Given the description of an element on the screen output the (x, y) to click on. 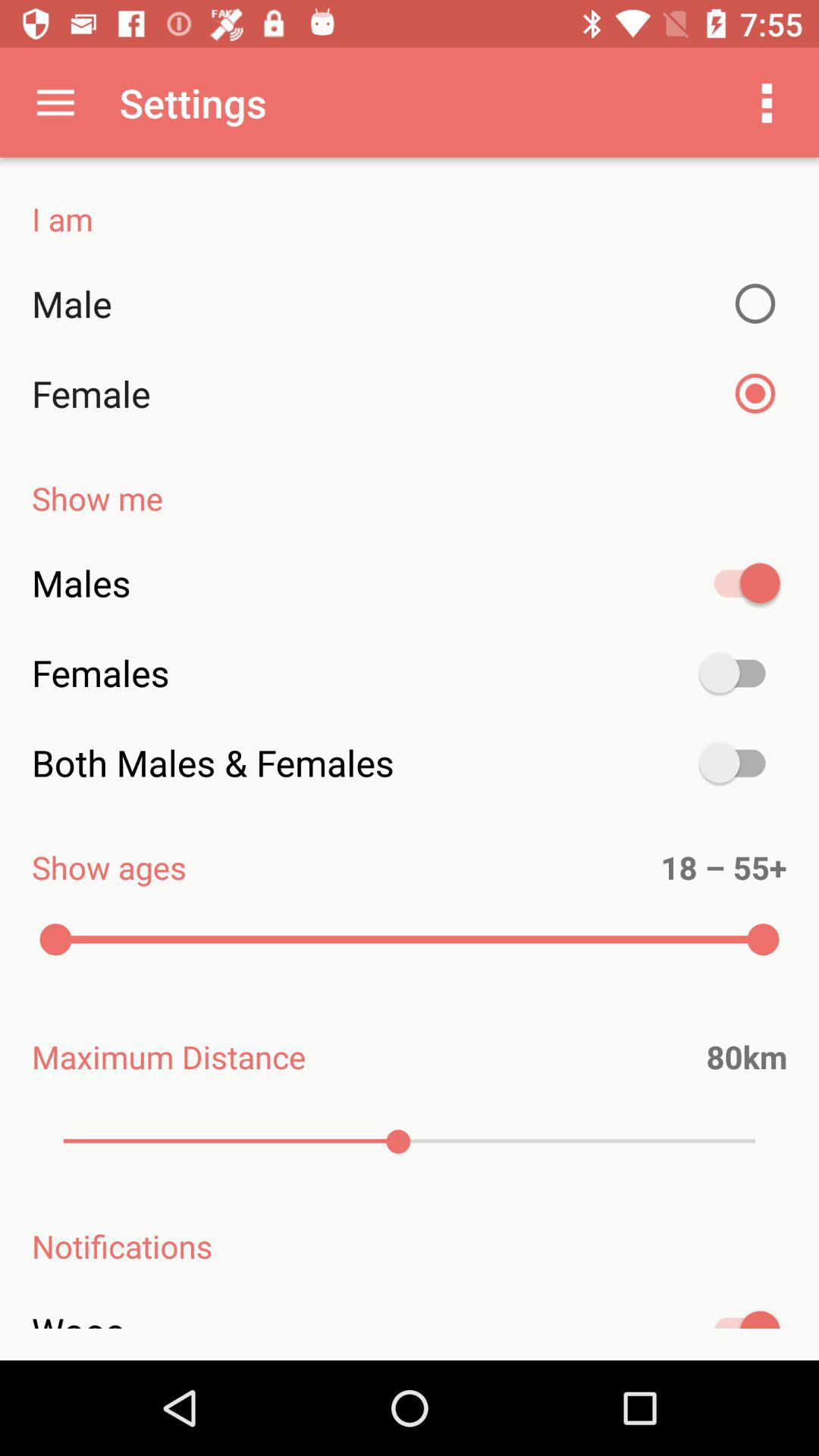
select the item below the females item (409, 762)
